Given the description of an element on the screen output the (x, y) to click on. 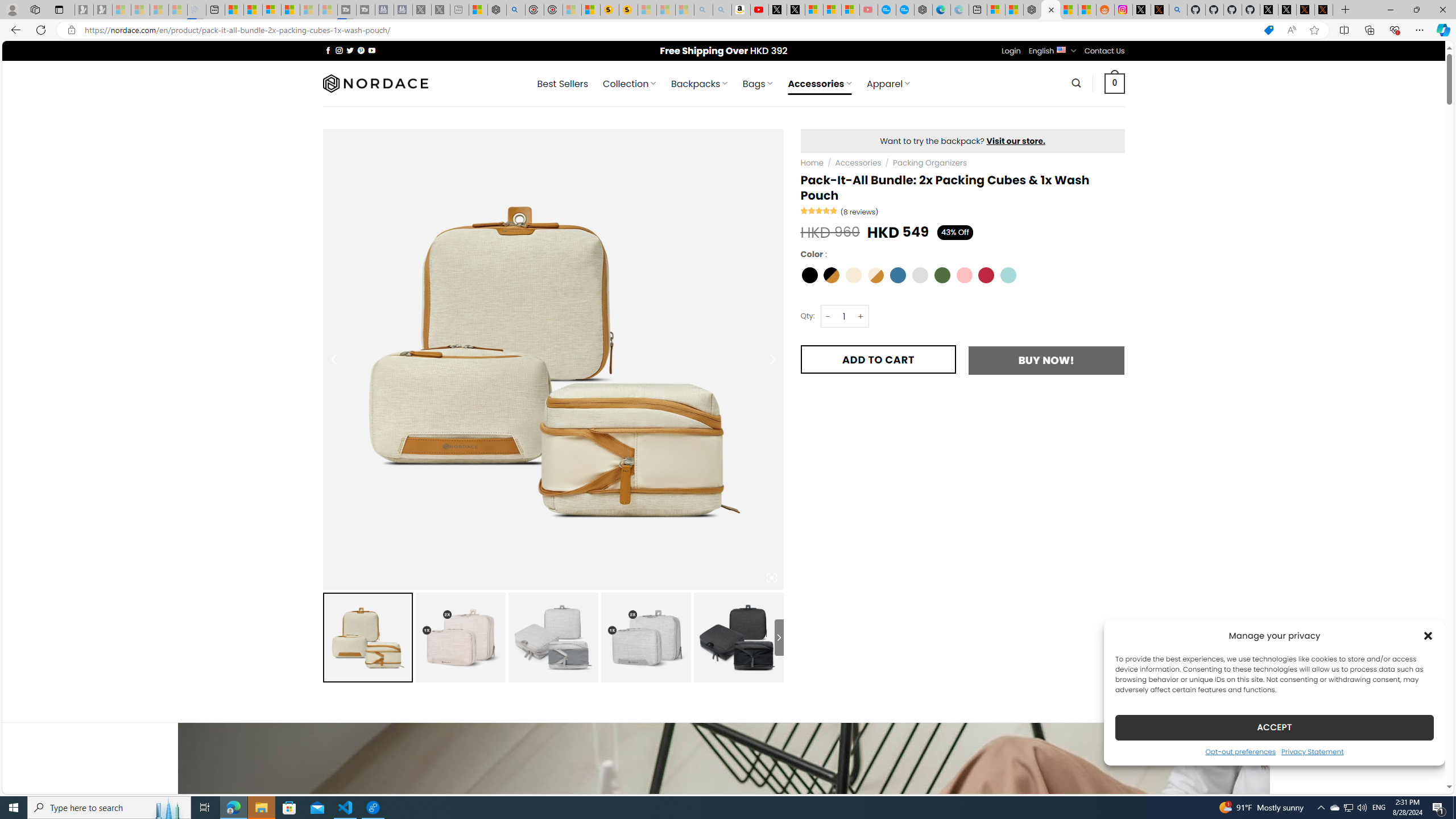
Home (812, 162)
Rated 4.75 out of 5 (819, 210)
Address and search bar (669, 29)
English (1061, 49)
Streaming Coverage | T3 - Sleeping (347, 9)
poe - Search (515, 9)
Microsoft account | Microsoft Account Privacy Settings (996, 9)
This site has coupons! Shopping in Microsoft Edge (1268, 29)
